Given the description of an element on the screen output the (x, y) to click on. 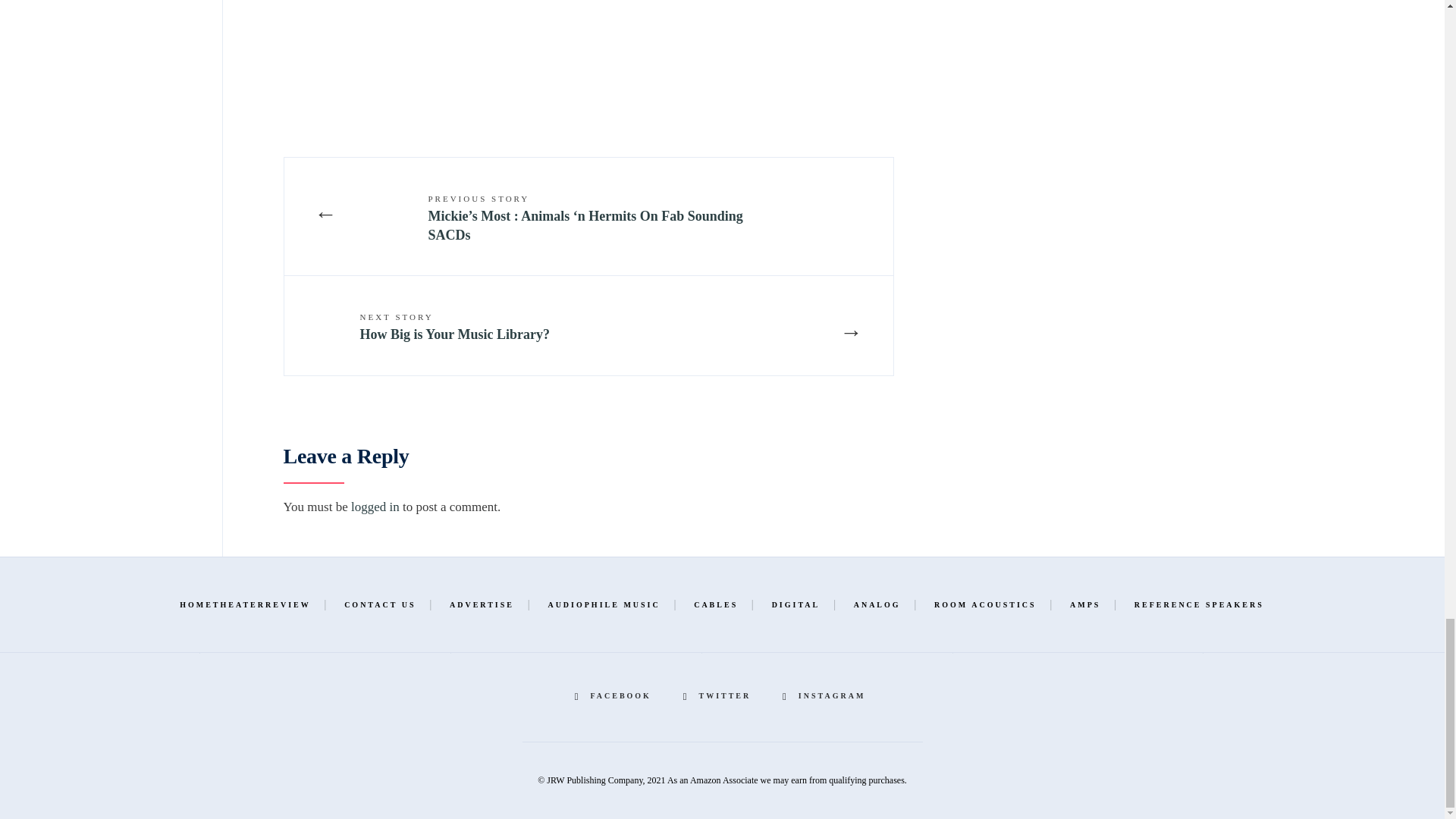
Instagram (826, 695)
Twitter (719, 695)
logged in (374, 506)
Facebook (615, 695)
